Given the description of an element on the screen output the (x, y) to click on. 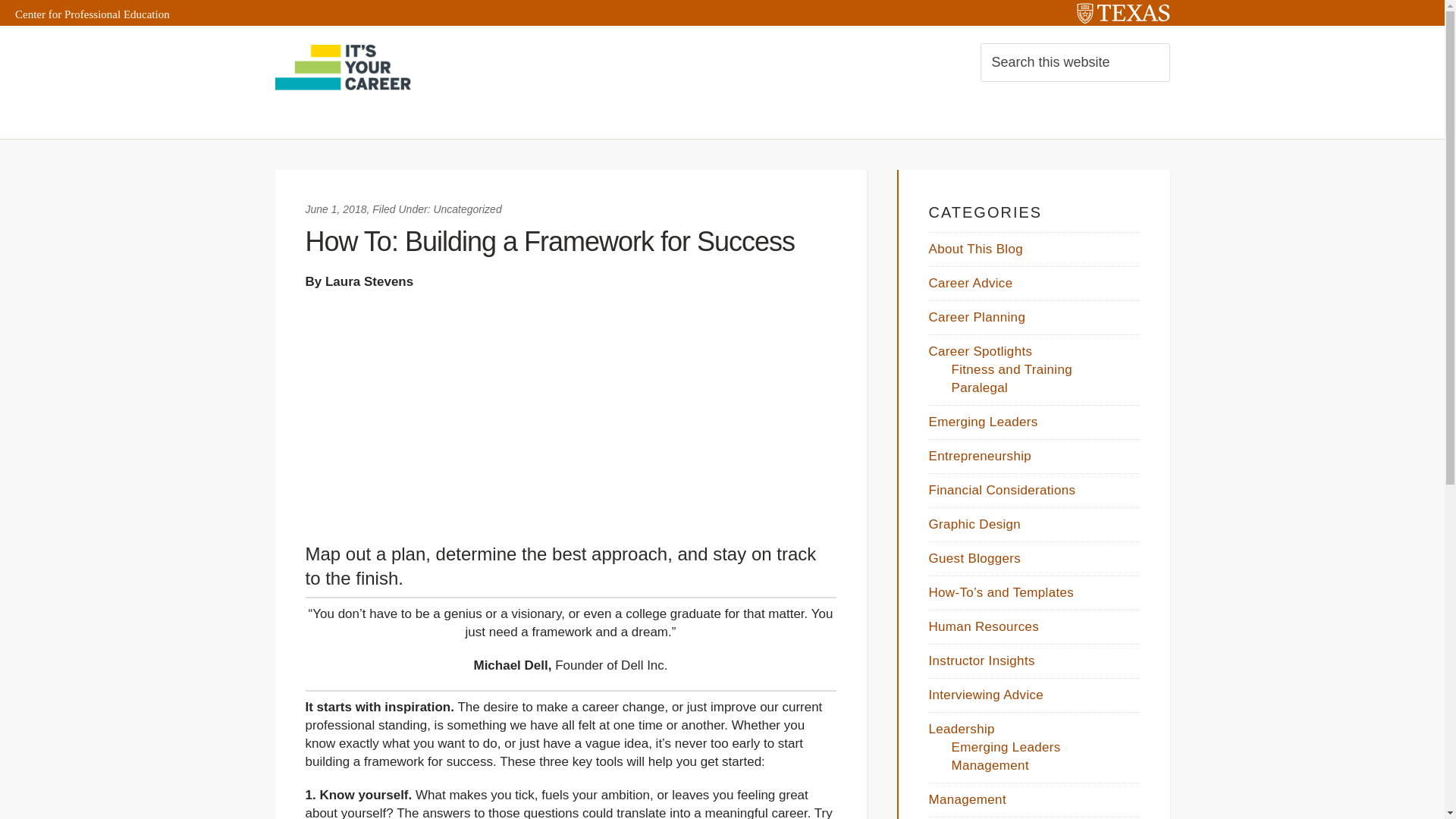
Career Advice (969, 283)
SUBSCRIBE (328, 115)
Career Planning (976, 317)
Paralegal (978, 387)
Financial Considerations (1001, 490)
Leadership (961, 728)
Human Resources (983, 626)
Emerging Leaders (1004, 747)
Entrepreneurship (979, 455)
Management (967, 799)
